Given the description of an element on the screen output the (x, y) to click on. 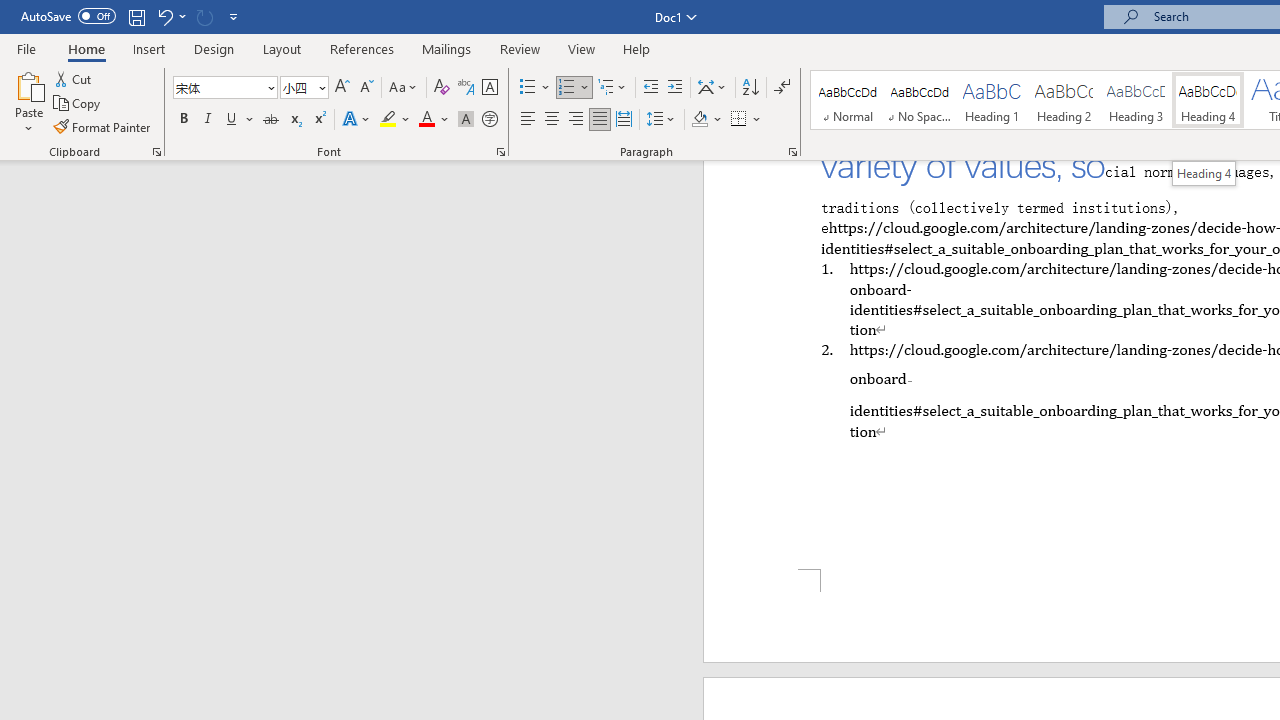
Customize Quick Access Toolbar (234, 15)
Save (136, 15)
Format Painter (103, 126)
File Tab (26, 48)
Numbering (566, 87)
Phonetic Guide... (465, 87)
Open (320, 87)
AutoSave (68, 16)
Cut (73, 78)
More Options (757, 119)
Text Highlight Color (395, 119)
Review (520, 48)
Subscript (294, 119)
Text Effects and Typography (357, 119)
Clear Formatting (442, 87)
